Given the description of an element on the screen output the (x, y) to click on. 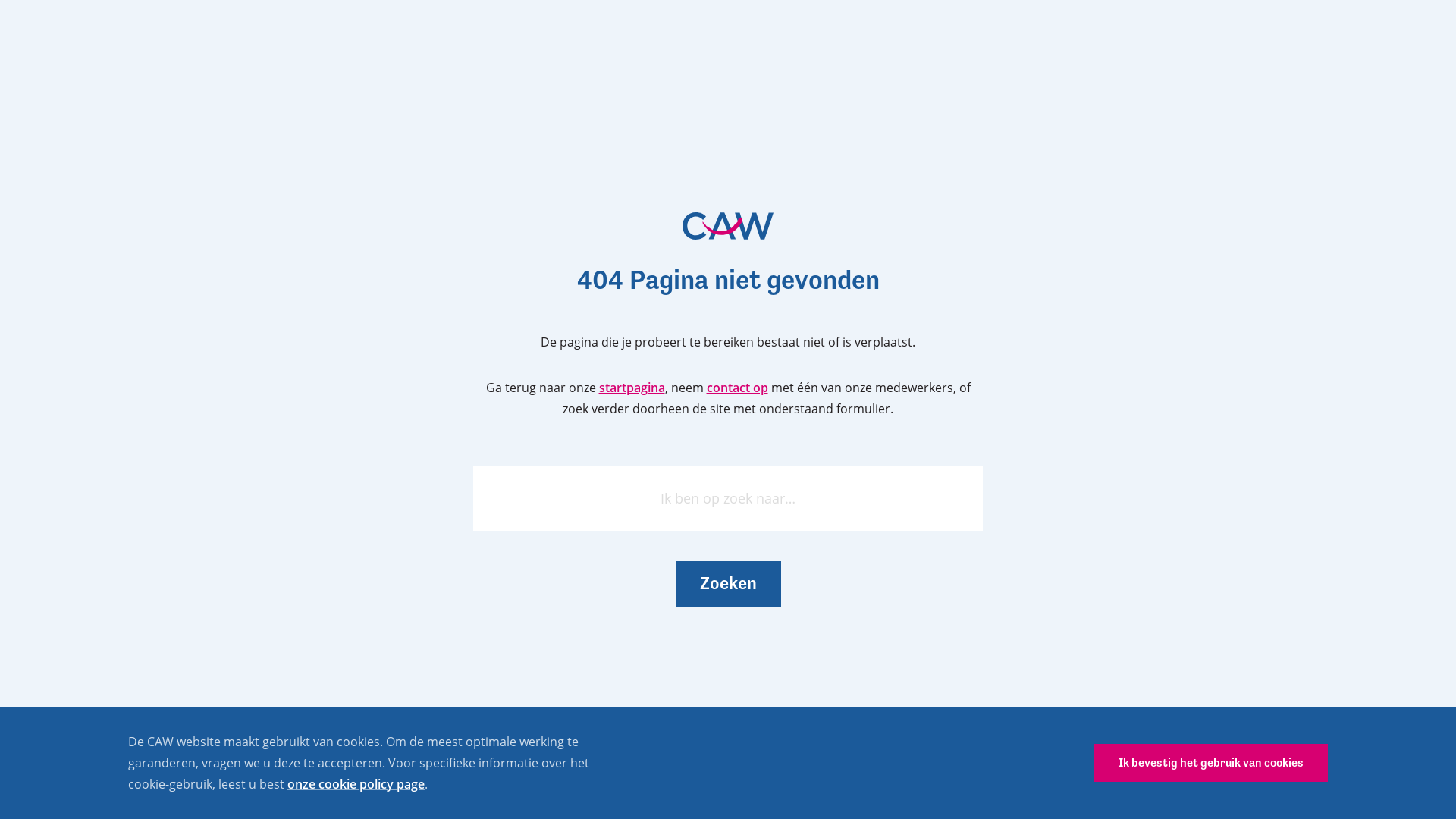
Zoeken Element type: text (727, 583)
Ik bevestig het gebruik van cookies Element type: text (1210, 762)
onze cookie policy page Element type: text (355, 783)
startpagina Element type: text (632, 387)
contact op Element type: text (737, 387)
